Given the description of an element on the screen output the (x, y) to click on. 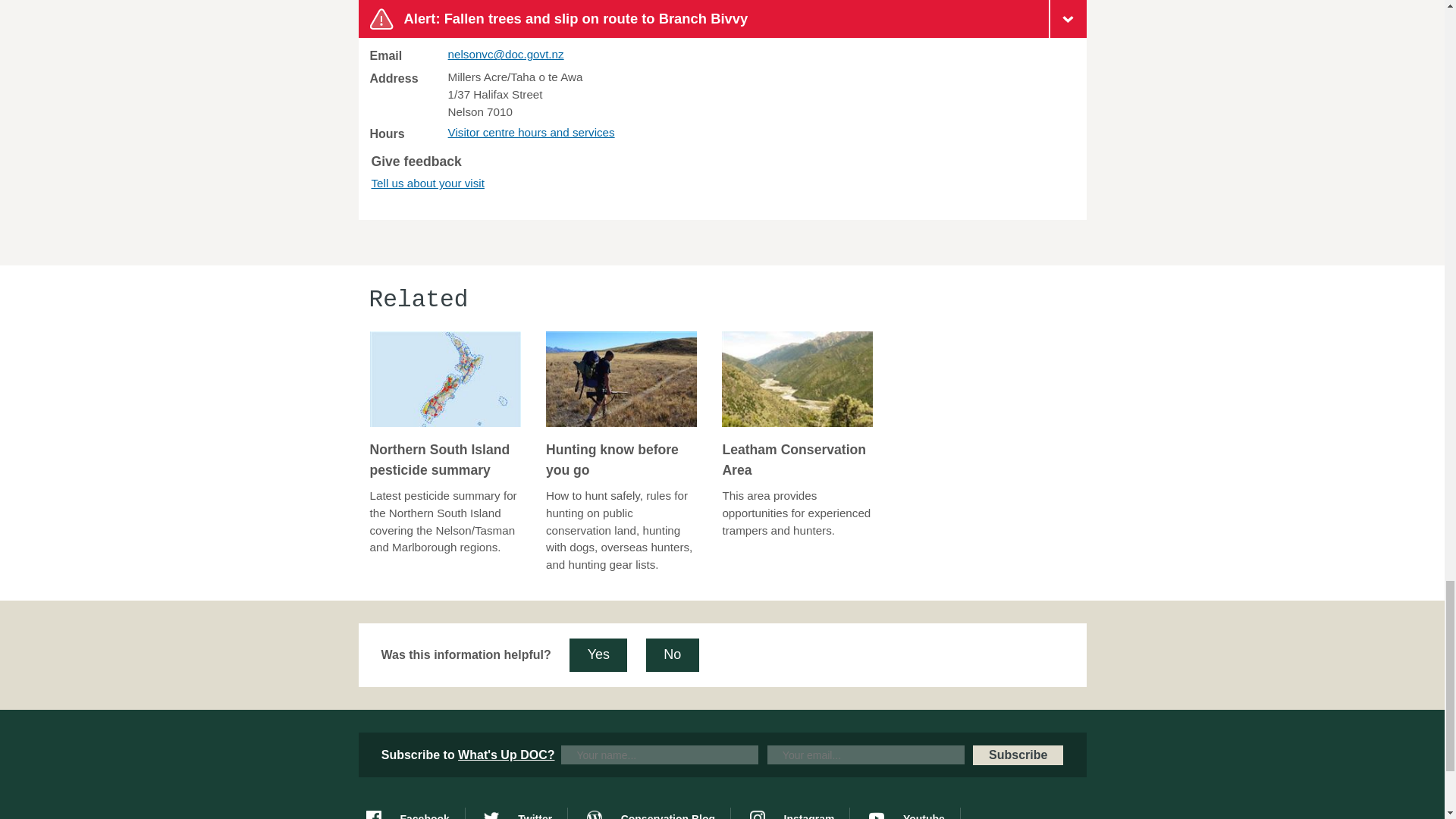
youtube (914, 813)
twitter (525, 813)
facebook (414, 813)
blog (658, 813)
instagram (799, 813)
Subscribe (1017, 754)
